Given the description of an element on the screen output the (x, y) to click on. 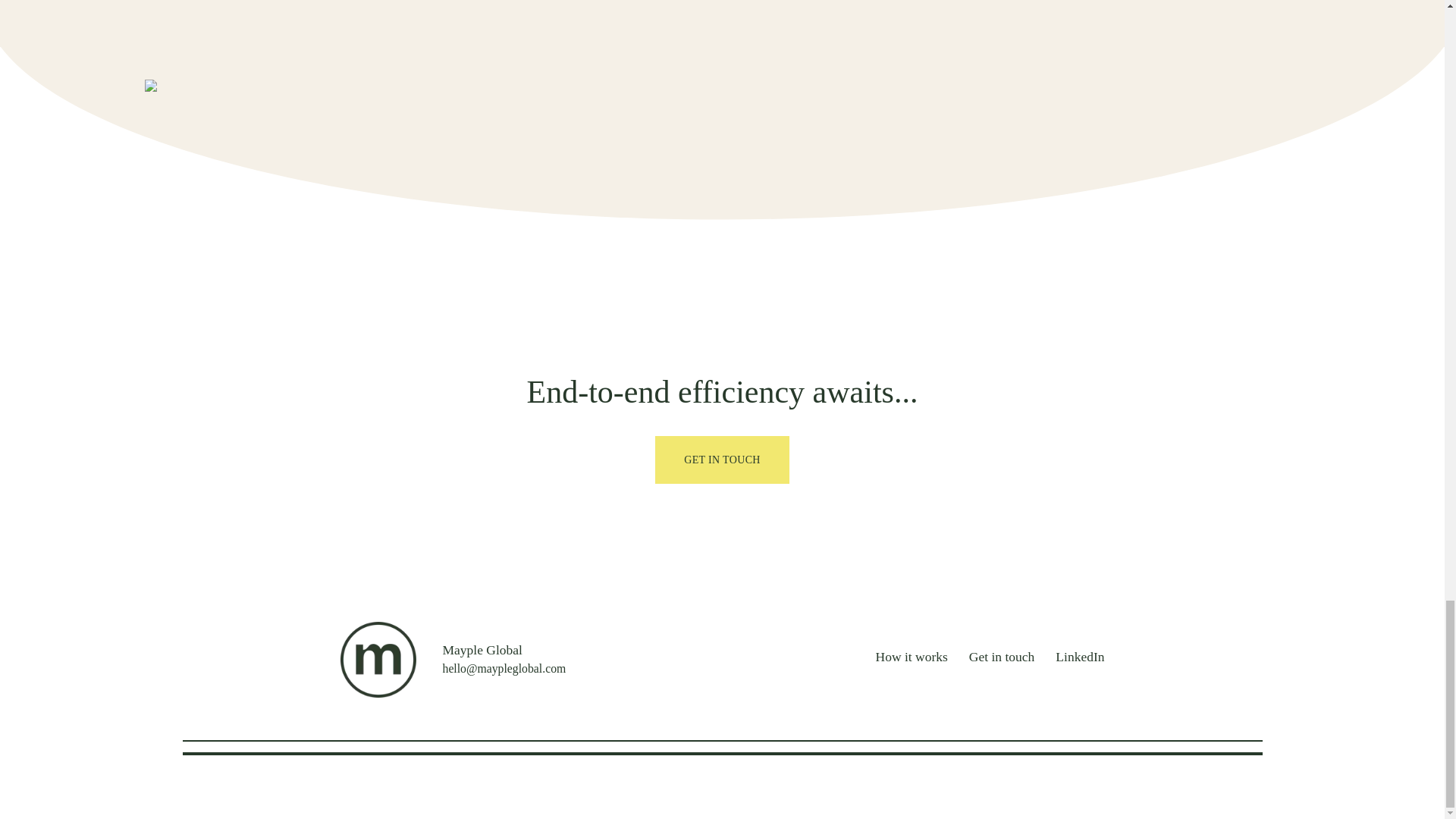
How it works (911, 658)
LinkedIn (1079, 658)
GET IN TOUCH (722, 459)
GET IN TOUCH (722, 455)
Get in touch (1002, 658)
